Given the description of an element on the screen output the (x, y) to click on. 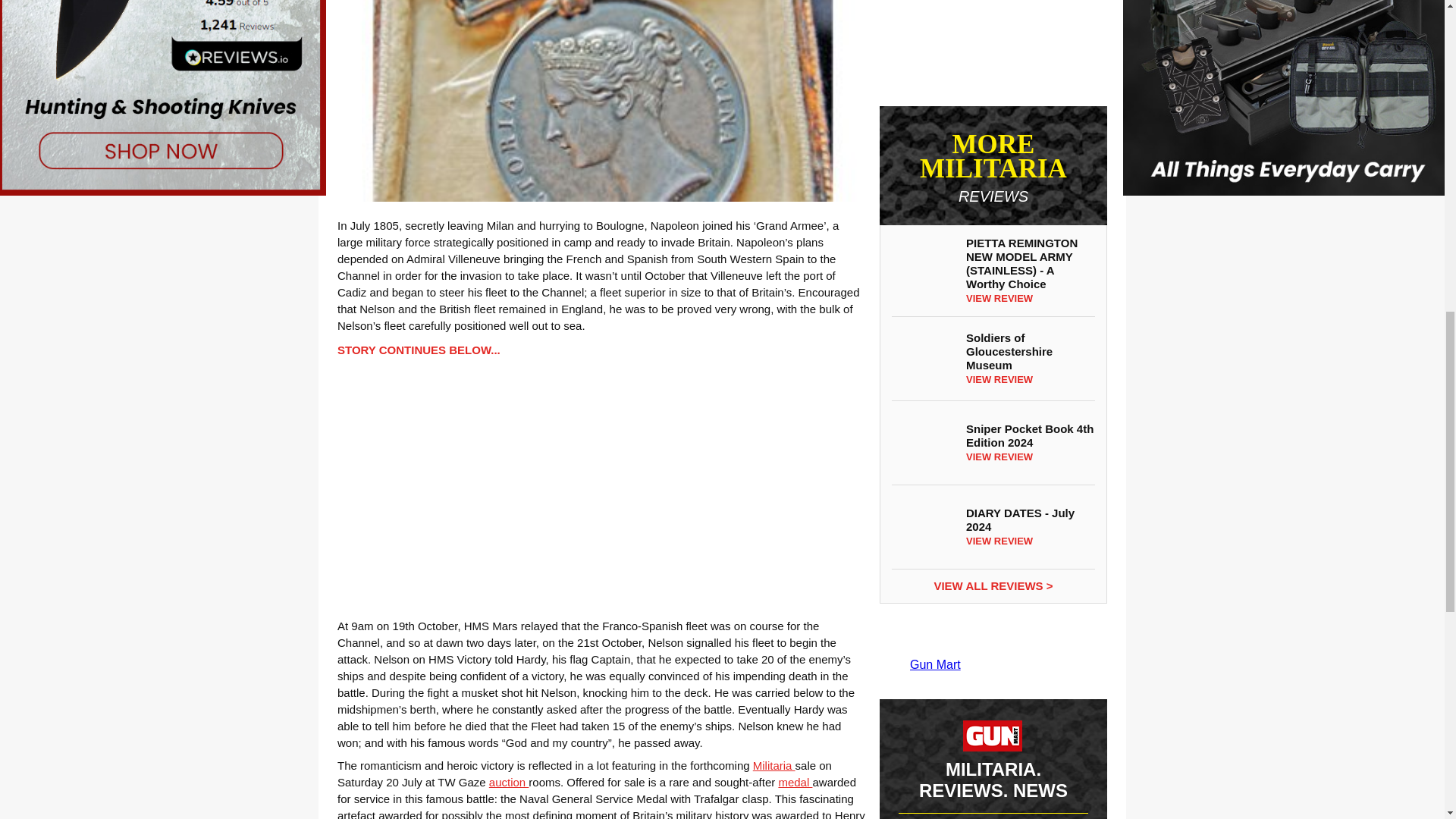
DIARY DATES - July 2024 (921, 526)
Sniper Pocket Book 4th Edition 2024 (921, 442)
3rd party ad content (601, 484)
3rd party ad content (992, 47)
Trafalgar Medal (600, 101)
Soldiers of Gloucestershire Museum (921, 358)
